Given the description of an element on the screen output the (x, y) to click on. 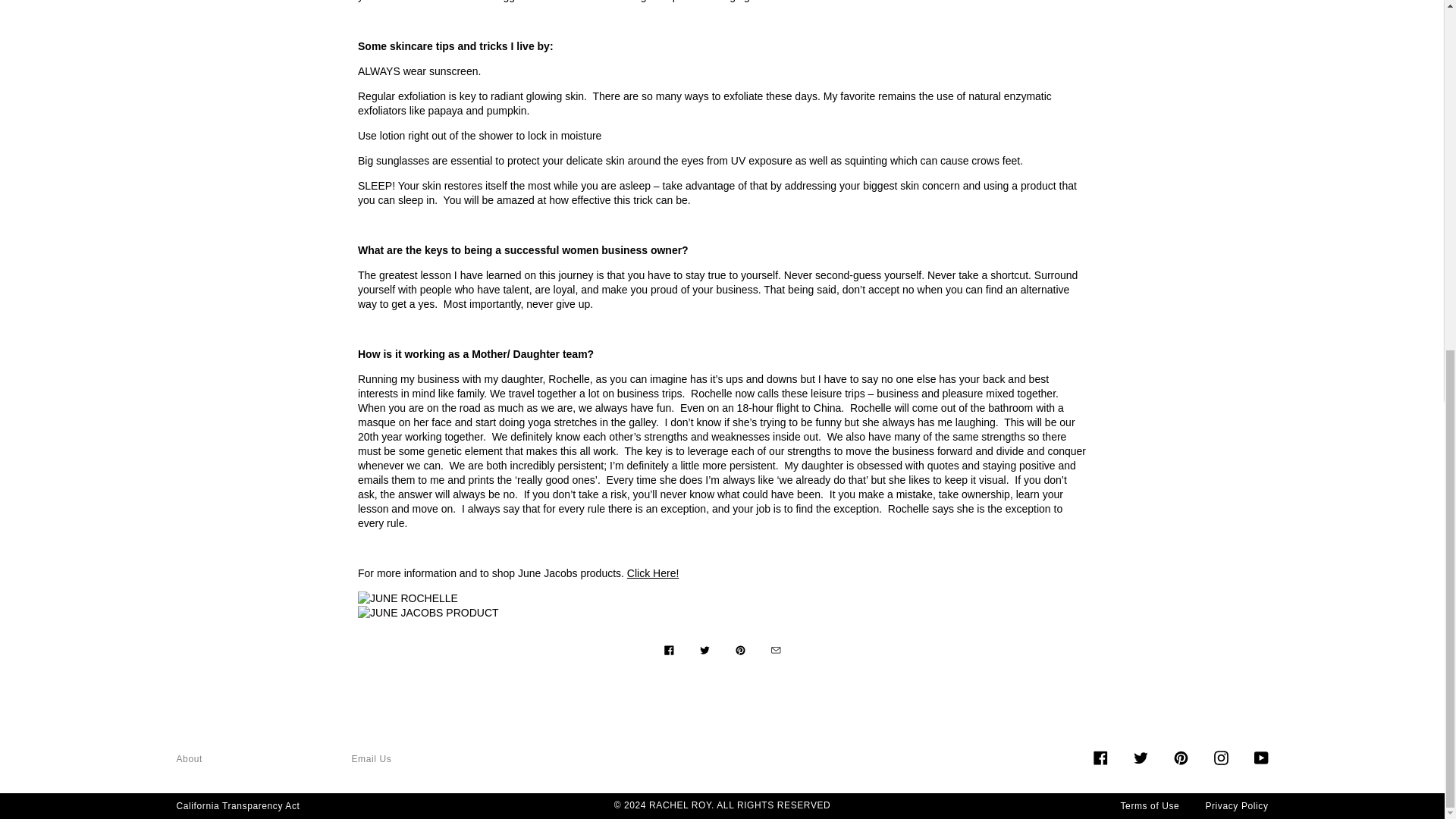
Rachel Roy on Facebook (1100, 756)
Facebook (1100, 756)
Rachel Roy on Instagram (1219, 756)
Twitter (1139, 756)
Privacy Policy (1236, 805)
Pinterest (1180, 756)
Click Here! (652, 573)
Instagram (1219, 756)
Rachel Roy on Twitter (1139, 756)
About (189, 758)
